Given the description of an element on the screen output the (x, y) to click on. 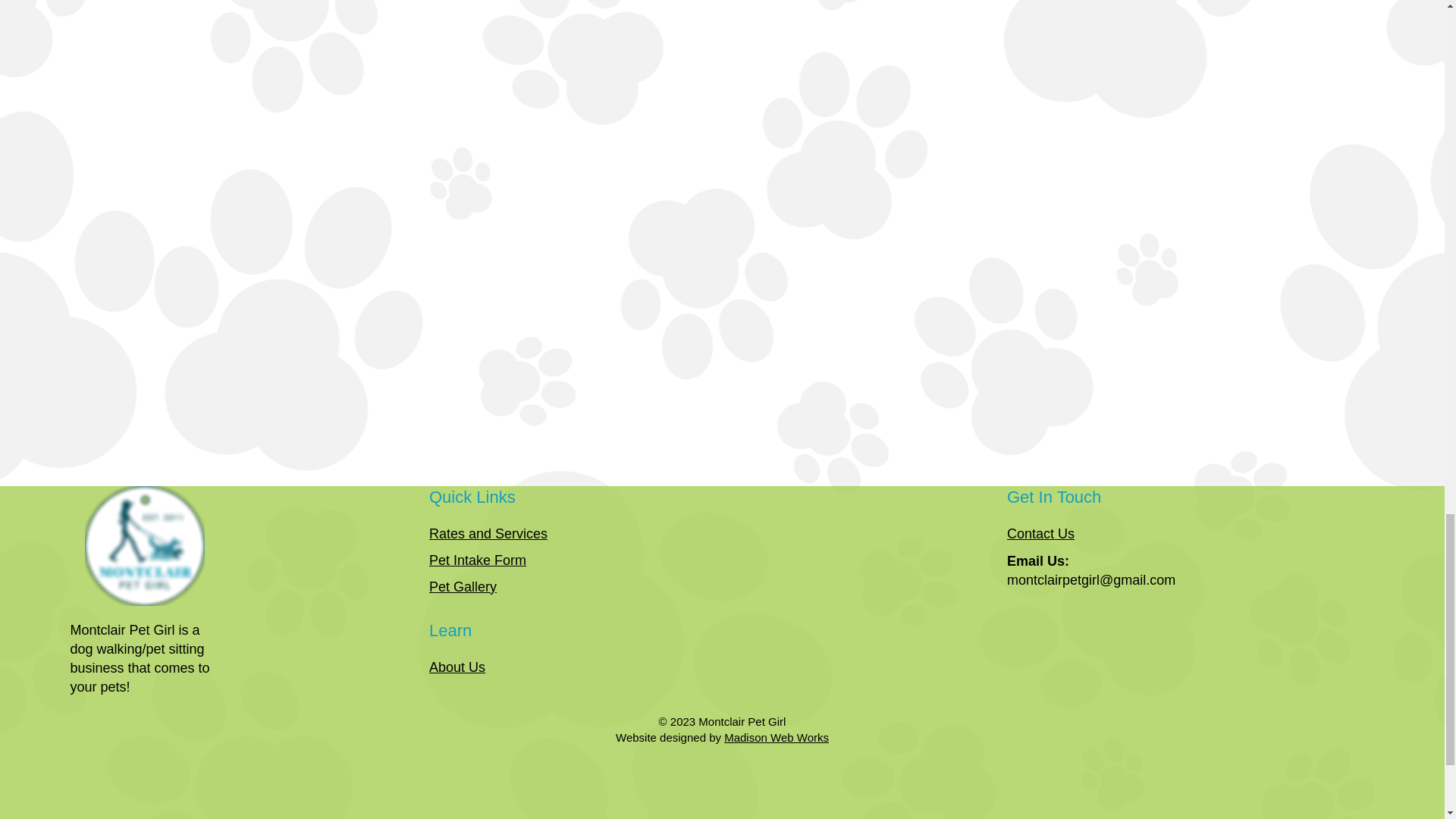
Pet Gallery (462, 586)
Madison Web Works (775, 737)
Rates and Services (488, 533)
About Us (456, 667)
Pet Intake Form (477, 560)
Contact Us (1040, 533)
